Given the description of an element on the screen output the (x, y) to click on. 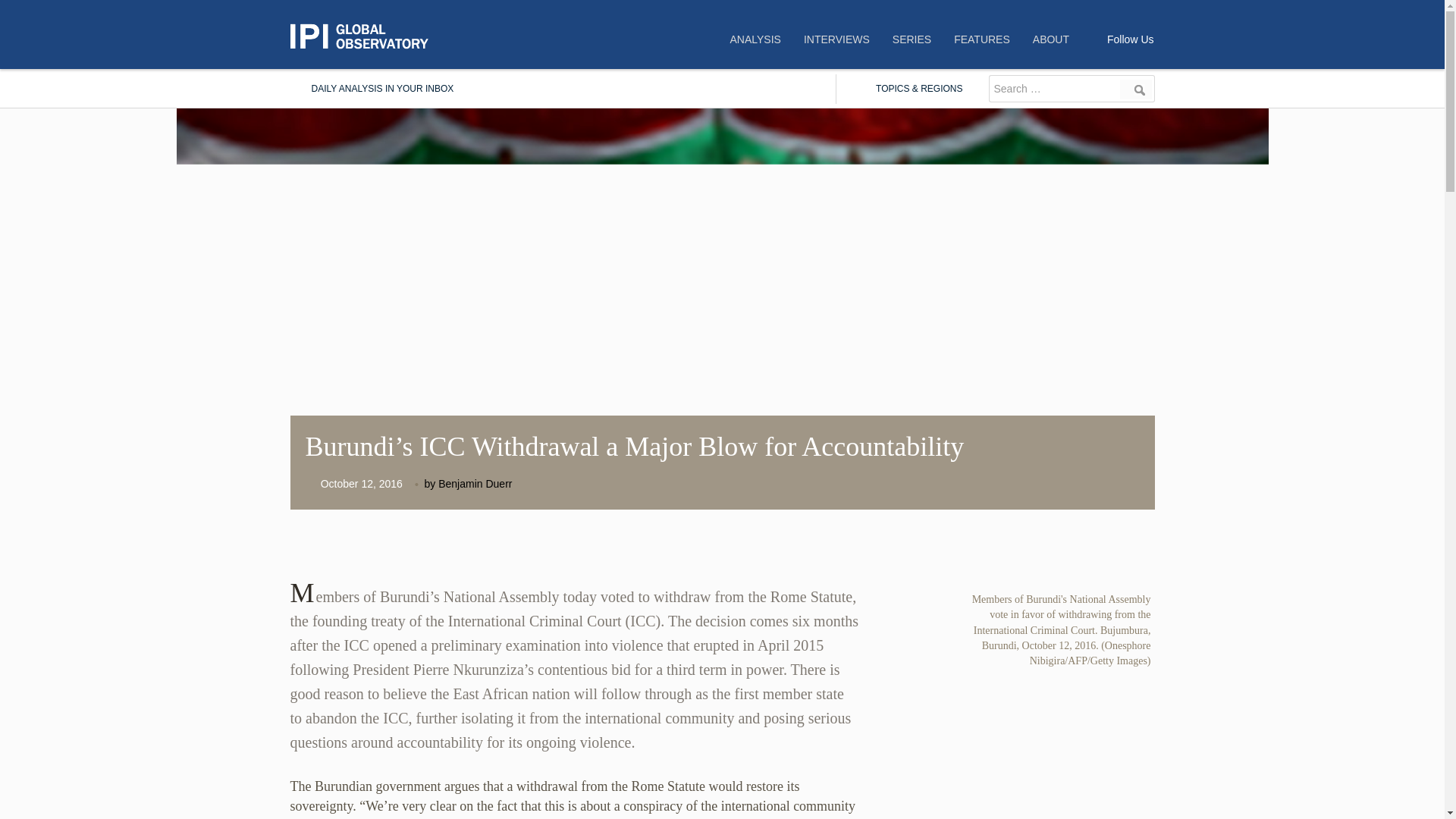
FEATURES (982, 39)
Follow Us (1130, 39)
DAILY ANALYSIS IN YOUR INBOX (372, 89)
SERIES (911, 39)
IPI Global Observatory (365, 36)
ANALYSIS (754, 39)
INTERVIEWS (836, 39)
search (1136, 88)
Search for: (1053, 88)
ABOUT (1051, 39)
